Given the description of an element on the screen output the (x, y) to click on. 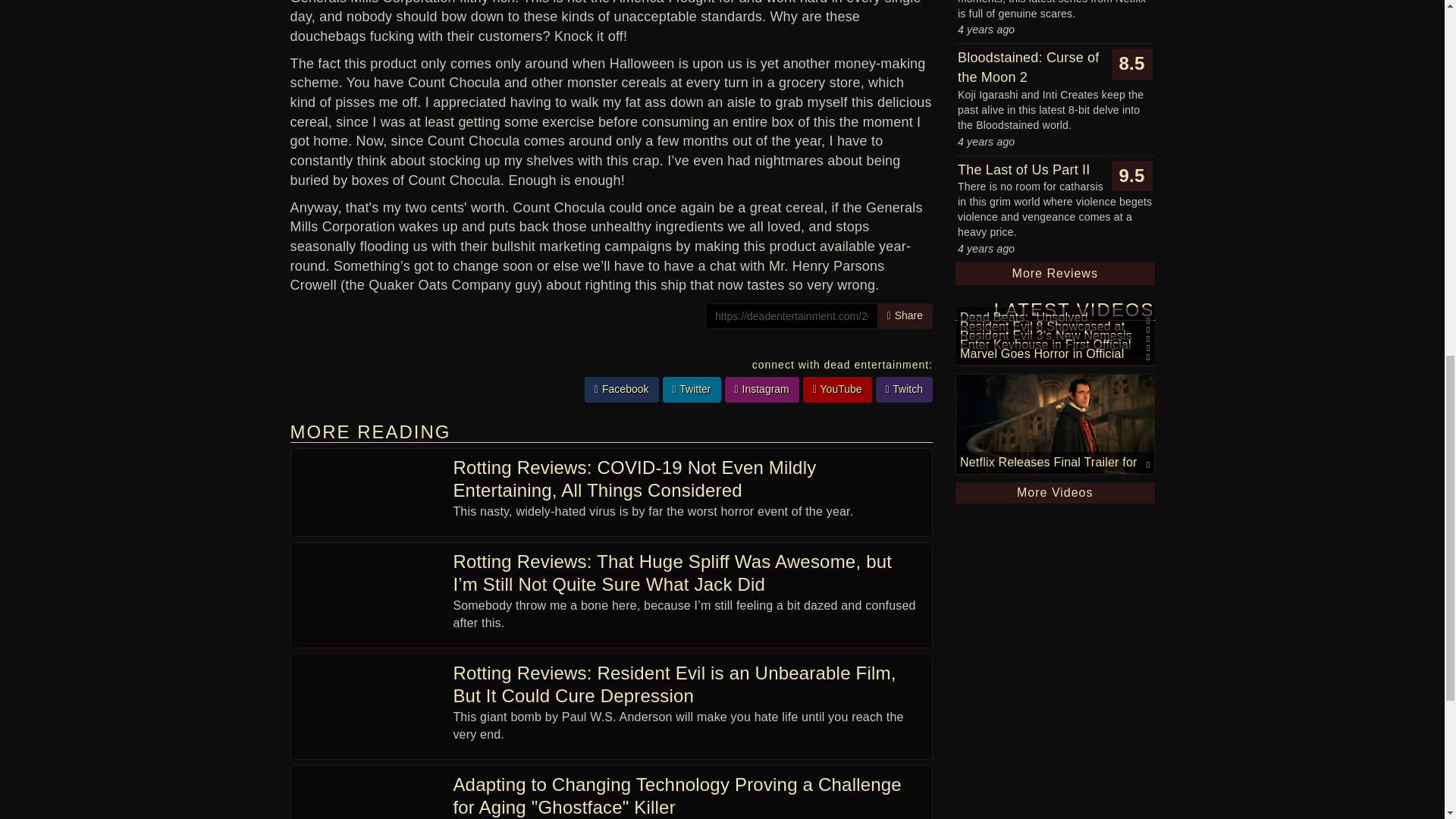
Instagram (762, 390)
Instagram (762, 389)
YouTube (837, 389)
Facebook (622, 389)
Twitter (691, 390)
Twitch (904, 390)
YouTube (837, 390)
Share (905, 316)
